Given the description of an element on the screen output the (x, y) to click on. 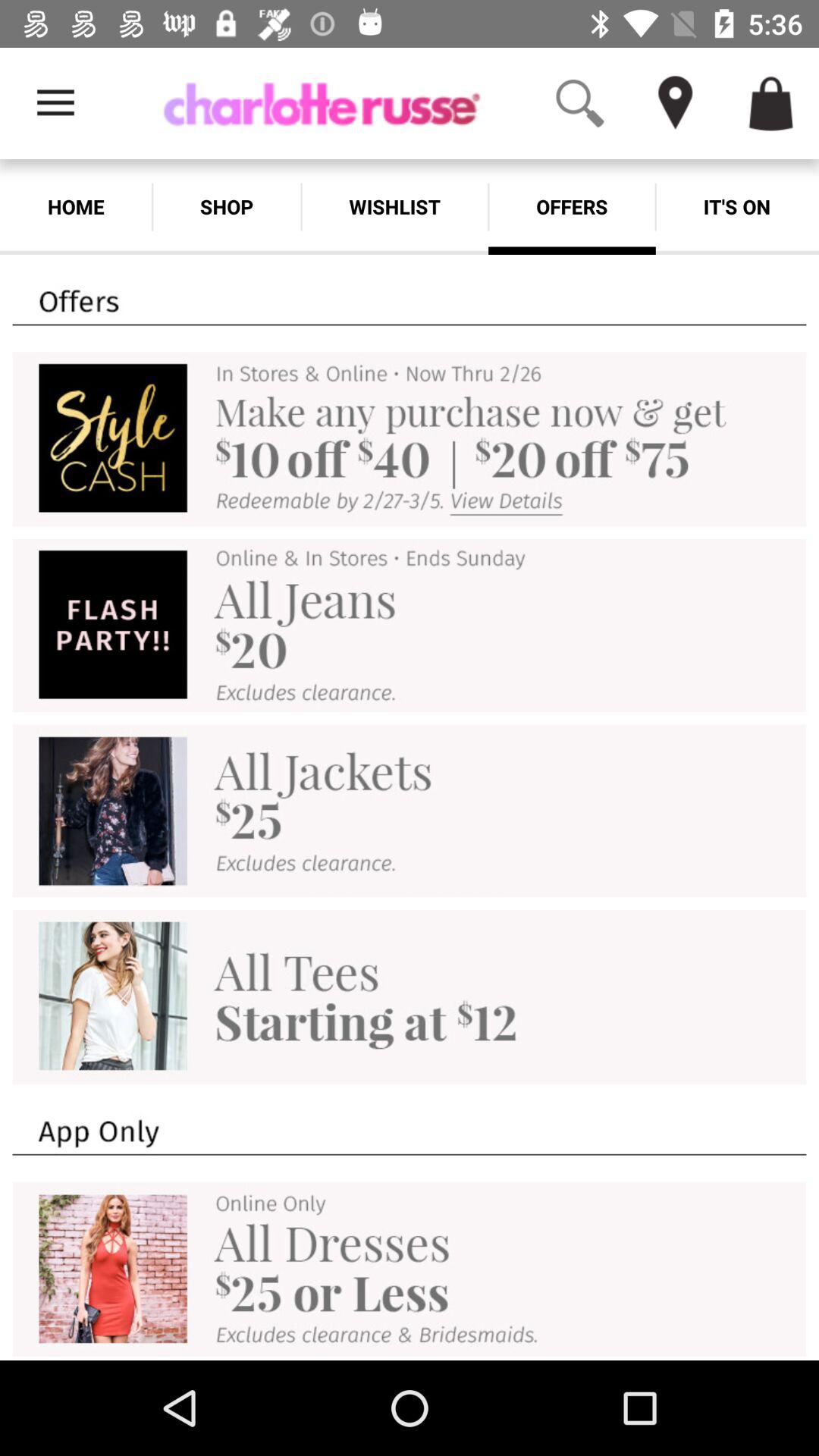
choose the wishlist icon (394, 206)
